Given the description of an element on the screen output the (x, y) to click on. 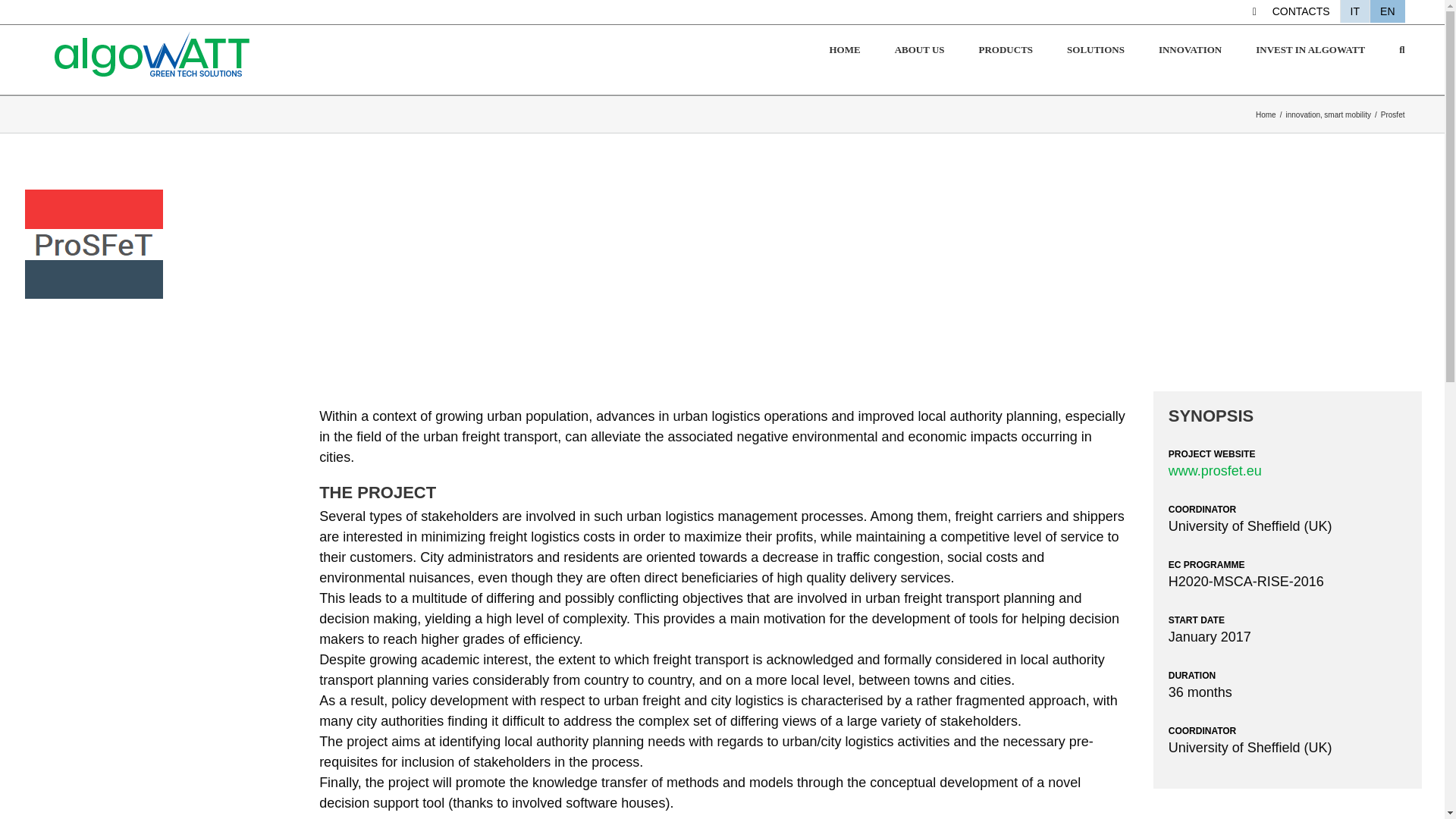
prosfet-logo (95, 243)
PRODUCTS (1005, 49)
ABOUT US (919, 49)
EN (1387, 11)
CONTACTS (1291, 11)
IT (1355, 11)
SOLUTIONS (1095, 49)
